Given the description of an element on the screen output the (x, y) to click on. 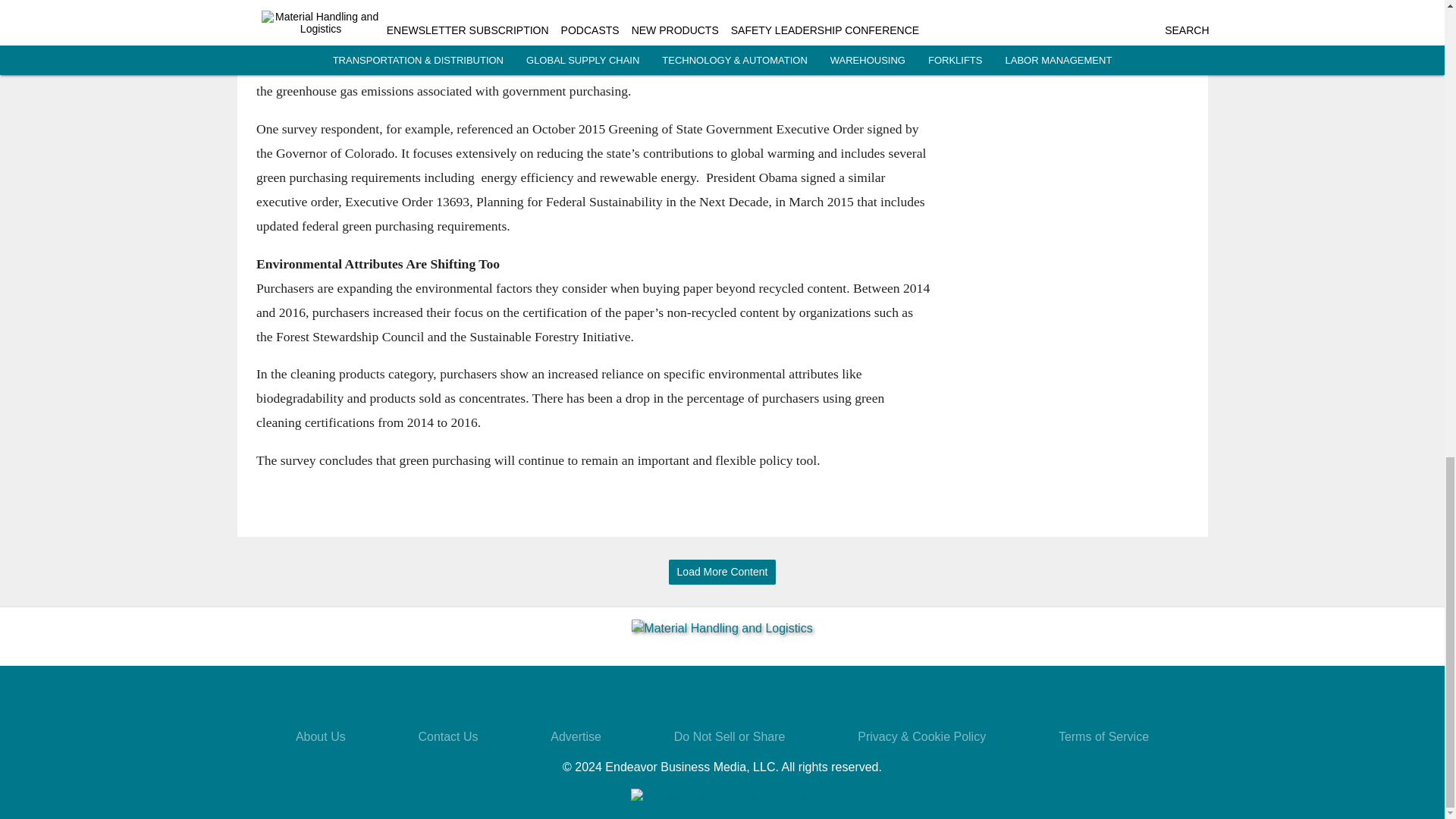
About Us (320, 736)
Contact Us (447, 736)
Do Not Sell or Share (730, 736)
Load More Content (722, 571)
Advertise (575, 736)
